Given the description of an element on the screen output the (x, y) to click on. 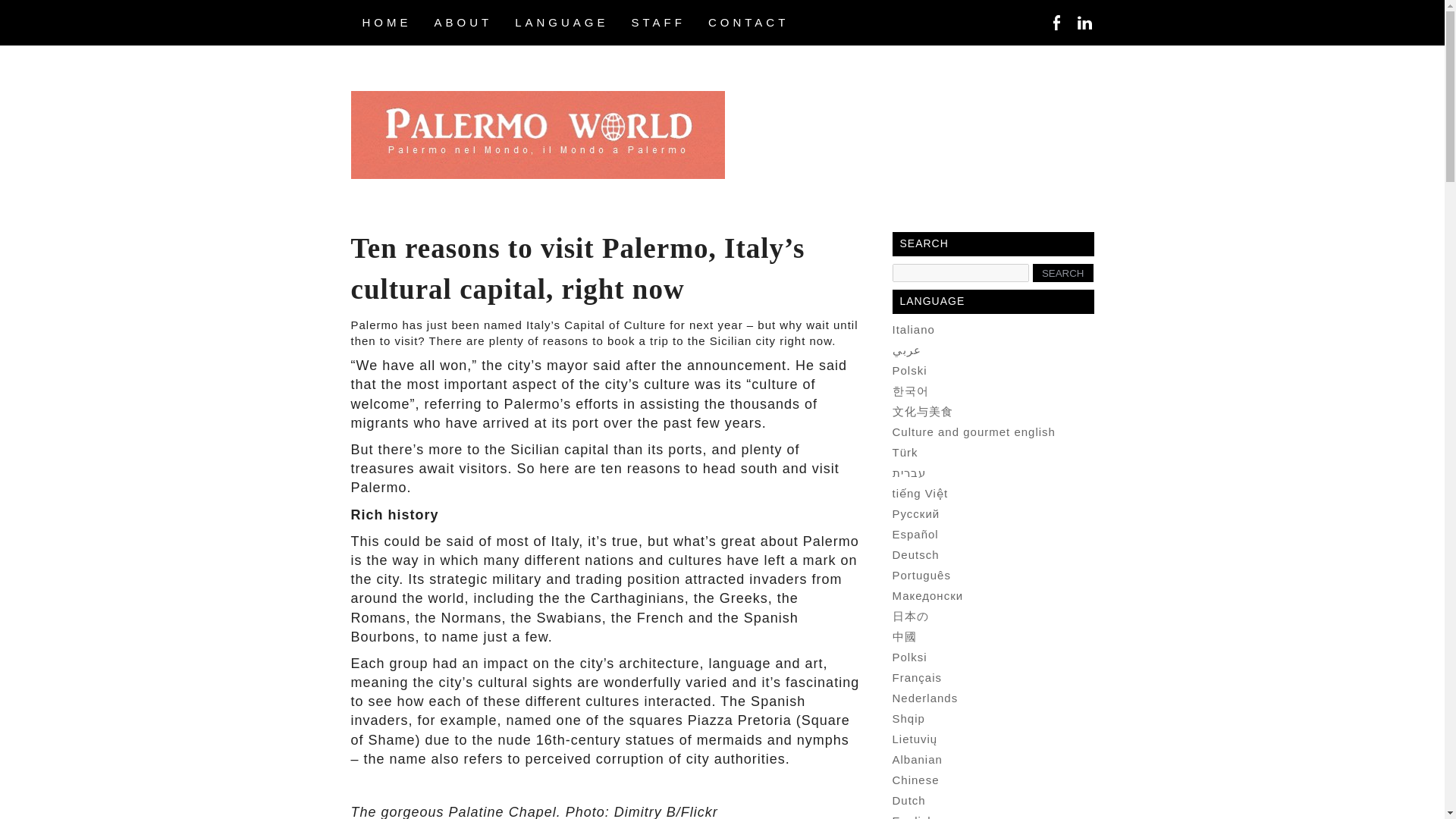
HOME (386, 22)
STAFF (658, 22)
SEARCH (1062, 272)
CONTACT (748, 22)
LANGUAGE (561, 22)
ABOUT (463, 22)
